Given the description of an element on the screen output the (x, y) to click on. 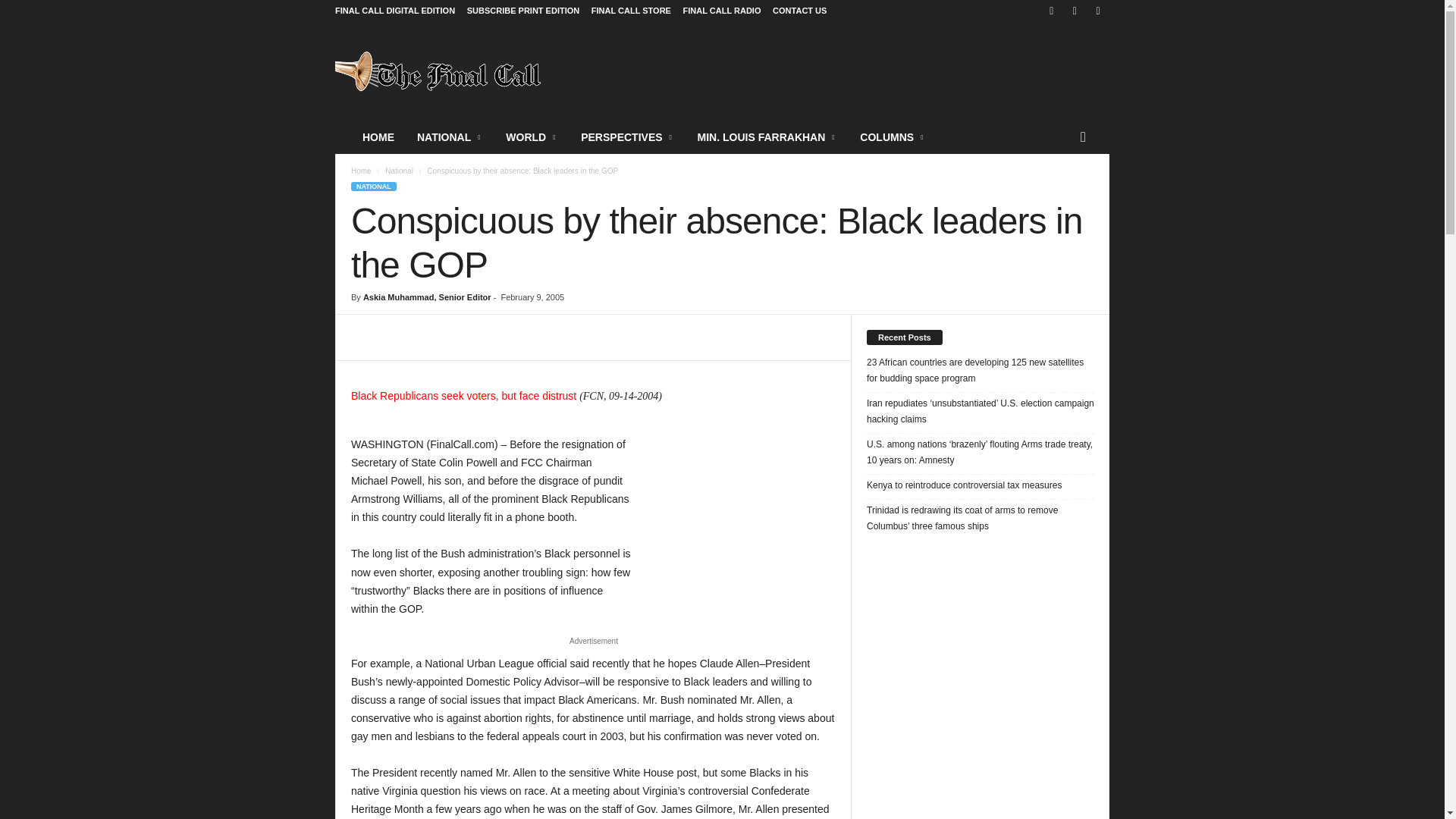
NATIONAL (450, 136)
HOME (378, 136)
CONTACT US (800, 10)
FINAL CALL RADIO (721, 10)
FINAL CALL STORE (631, 10)
Final Call News (437, 70)
SUBSCRIBE PRINT EDITION (523, 10)
FINAL CALL DIGITAL EDITION (394, 10)
